Given the description of an element on the screen output the (x, y) to click on. 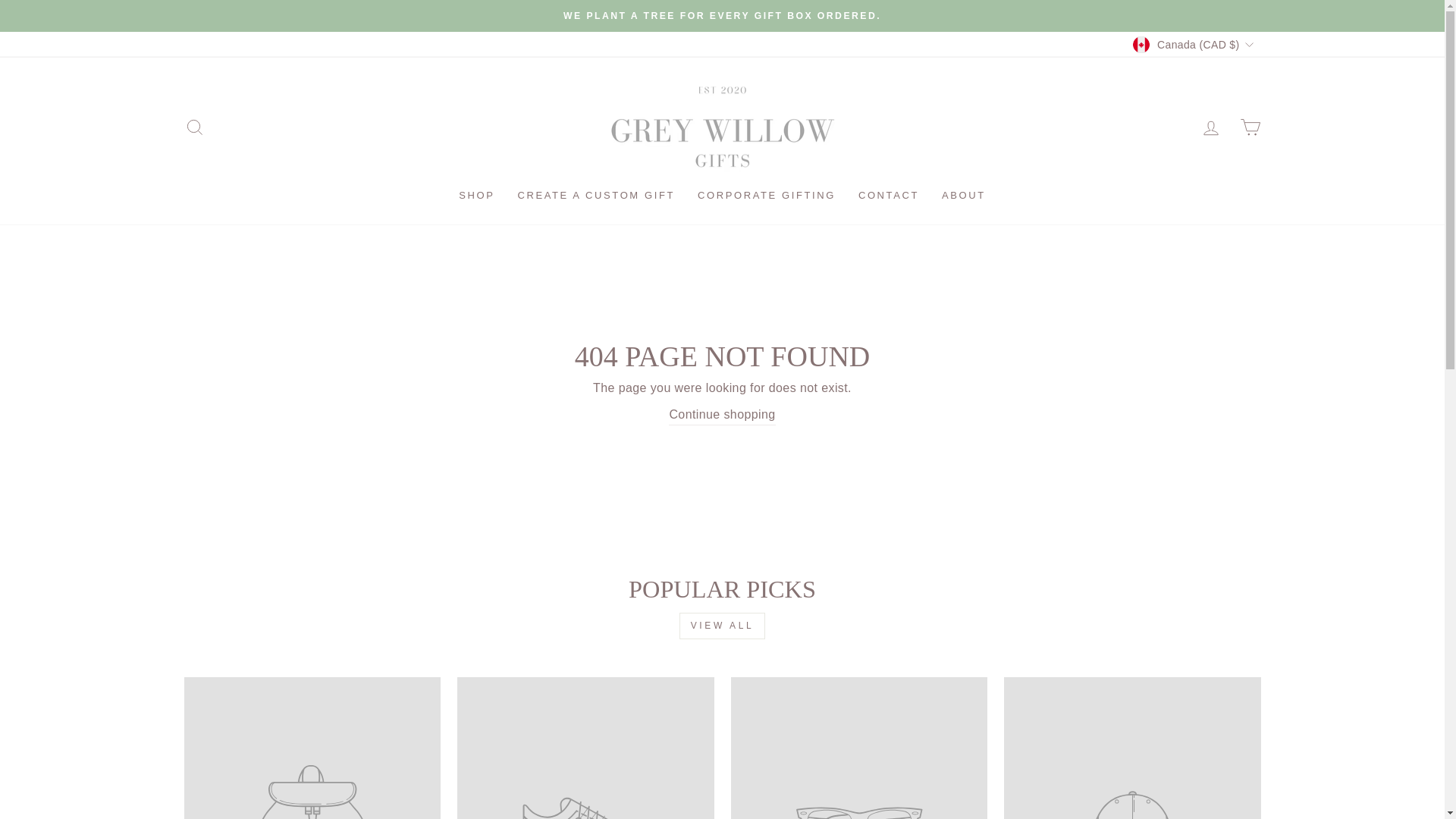
SHOP (475, 195)
SEARCH (194, 127)
CART (1249, 127)
LOG IN (1210, 127)
